Given the description of an element on the screen output the (x, y) to click on. 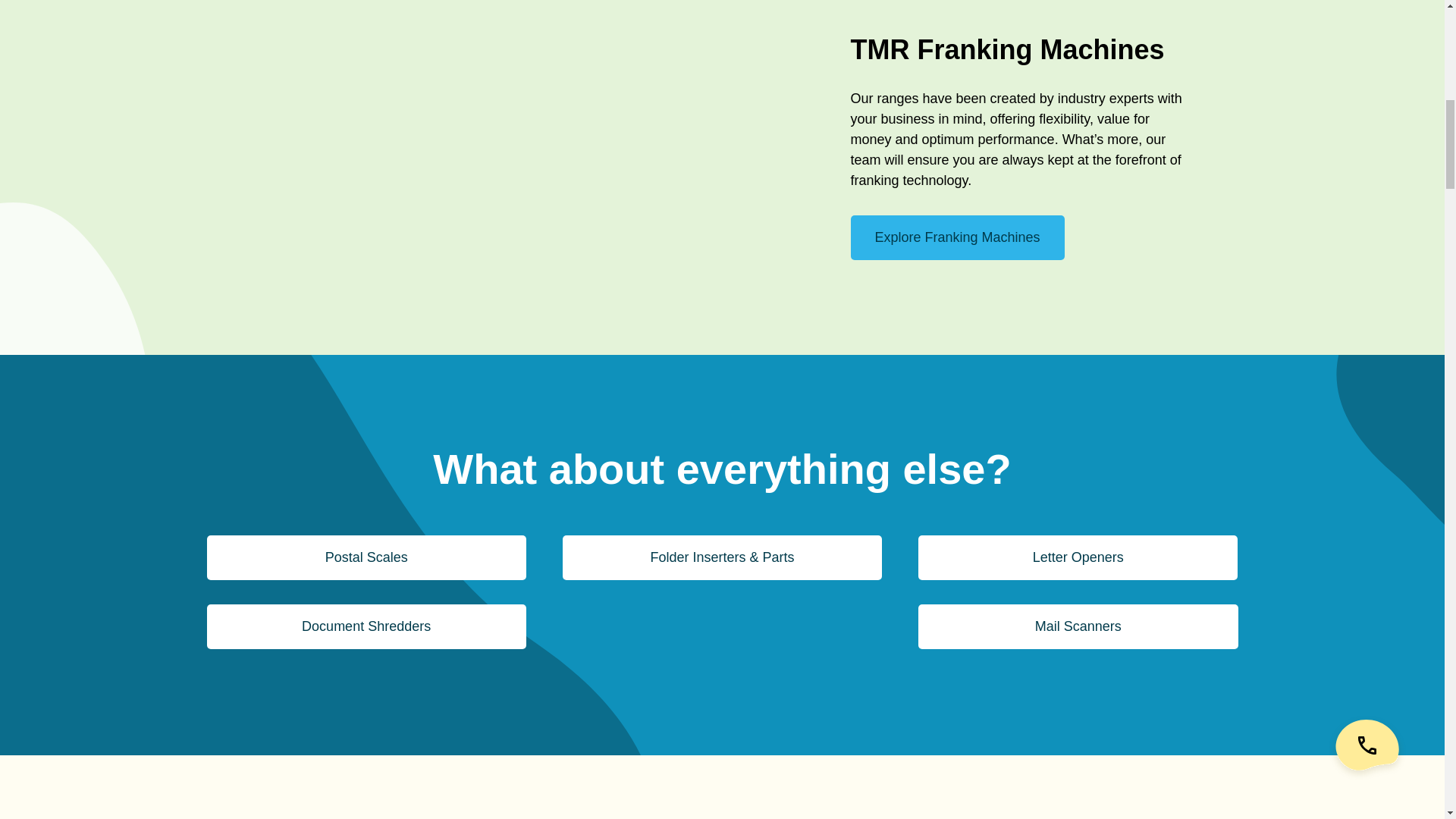
Letter Openers (1077, 557)
Postal Scales (365, 557)
Explore Franking Machines (957, 237)
Document Shredders (365, 626)
Mail Scanners (1077, 626)
